Given the description of an element on the screen output the (x, y) to click on. 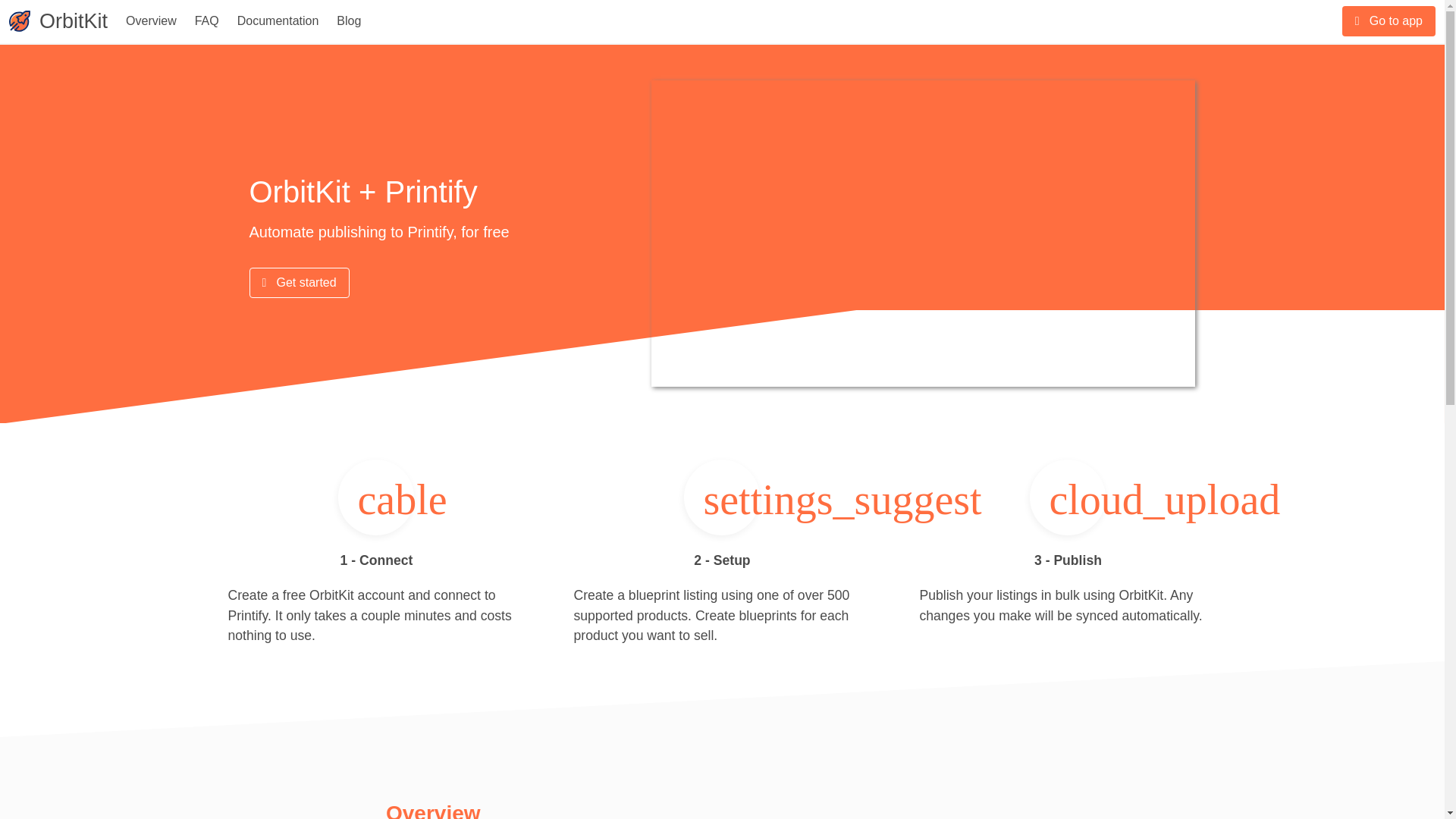
Get started (298, 282)
FAQ (207, 21)
Overview (151, 21)
OrbitKit (77, 21)
Go to app (1388, 20)
Documentation (278, 21)
Blog (348, 21)
